Given the description of an element on the screen output the (x, y) to click on. 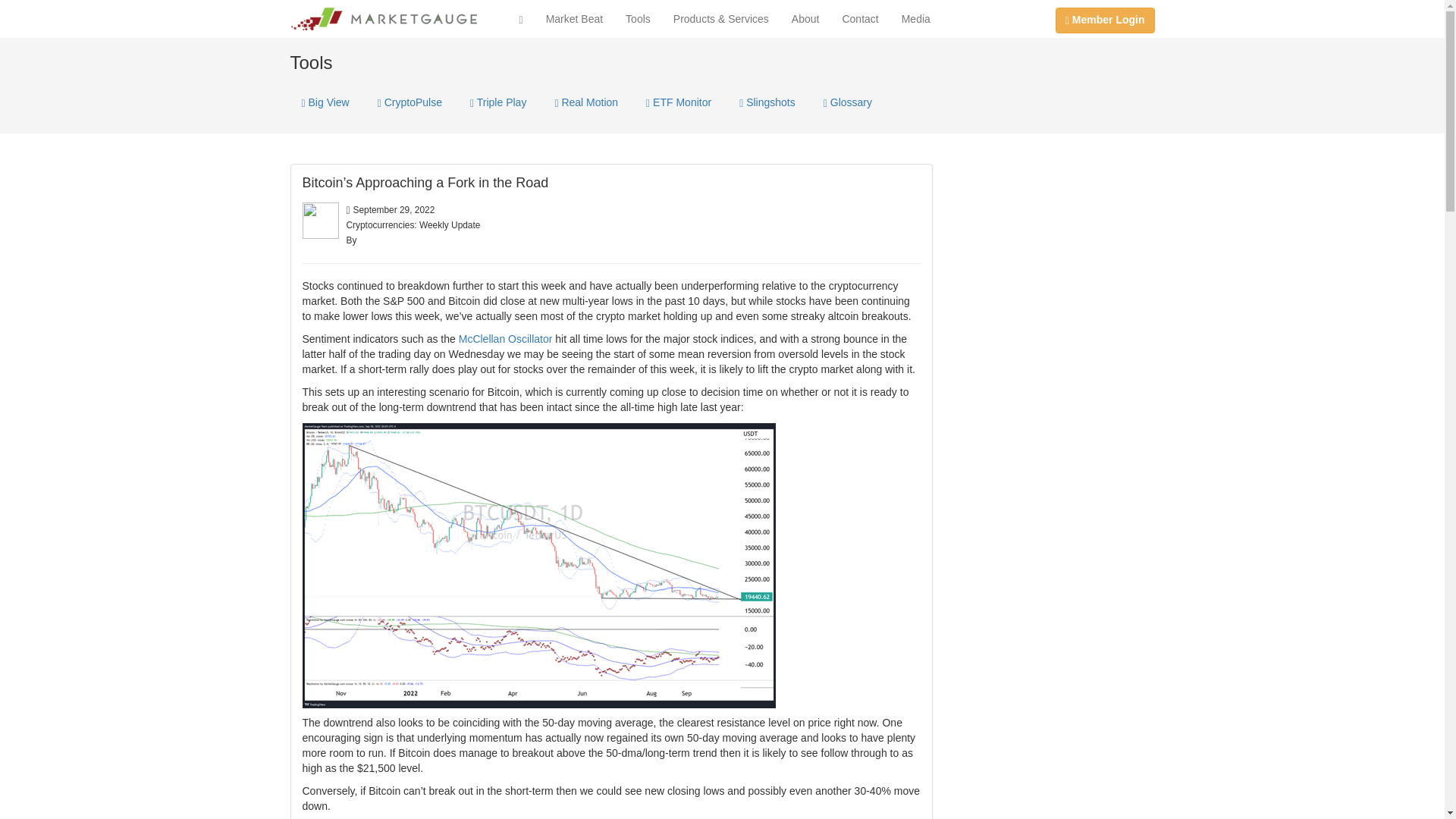
Real Motion (585, 102)
About (805, 18)
Big View (324, 102)
Member Login (1104, 20)
Tools (638, 18)
Contact (859, 18)
Triple Play (497, 102)
Market Beat (574, 18)
Glossary (847, 102)
Media (915, 18)
CryptoPulse (409, 102)
Slingshots (767, 102)
ETF Monitor (678, 102)
MarketGauge.com (383, 18)
McClellan Oscillator (505, 338)
